Given the description of an element on the screen output the (x, y) to click on. 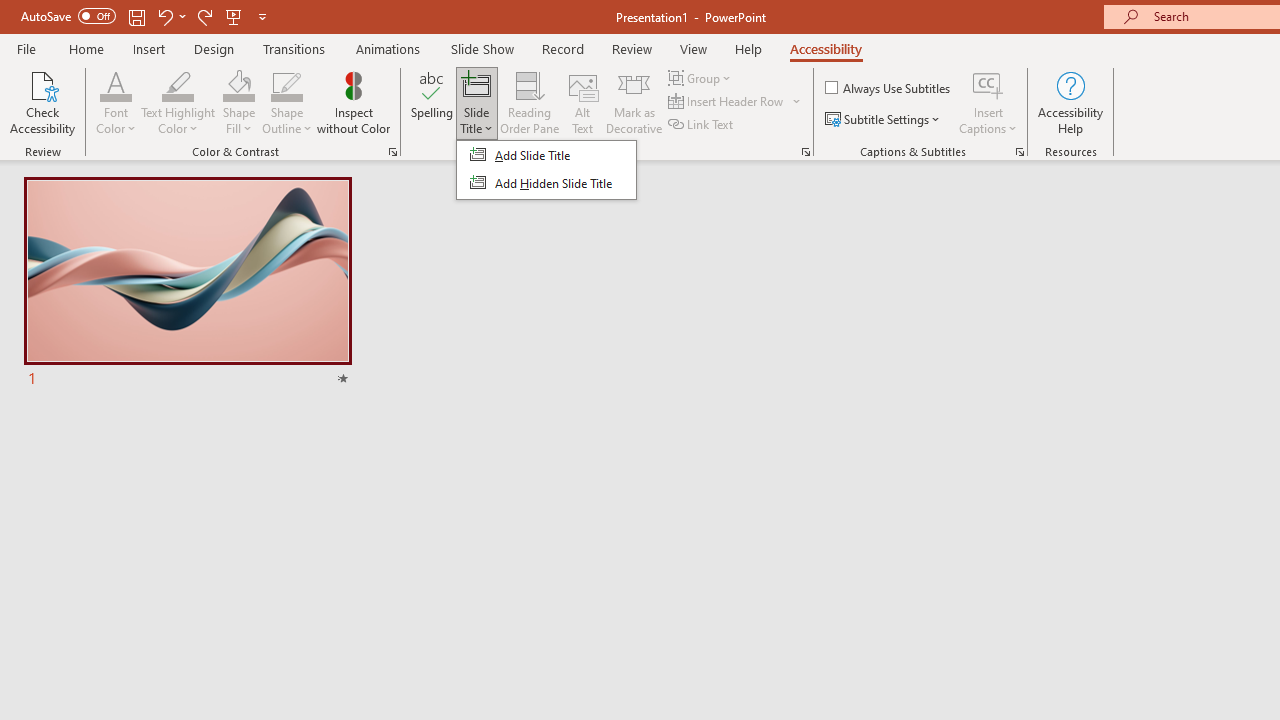
Subtitle Settings (884, 119)
Inspect without Color (353, 102)
